Given the description of an element on the screen output the (x, y) to click on. 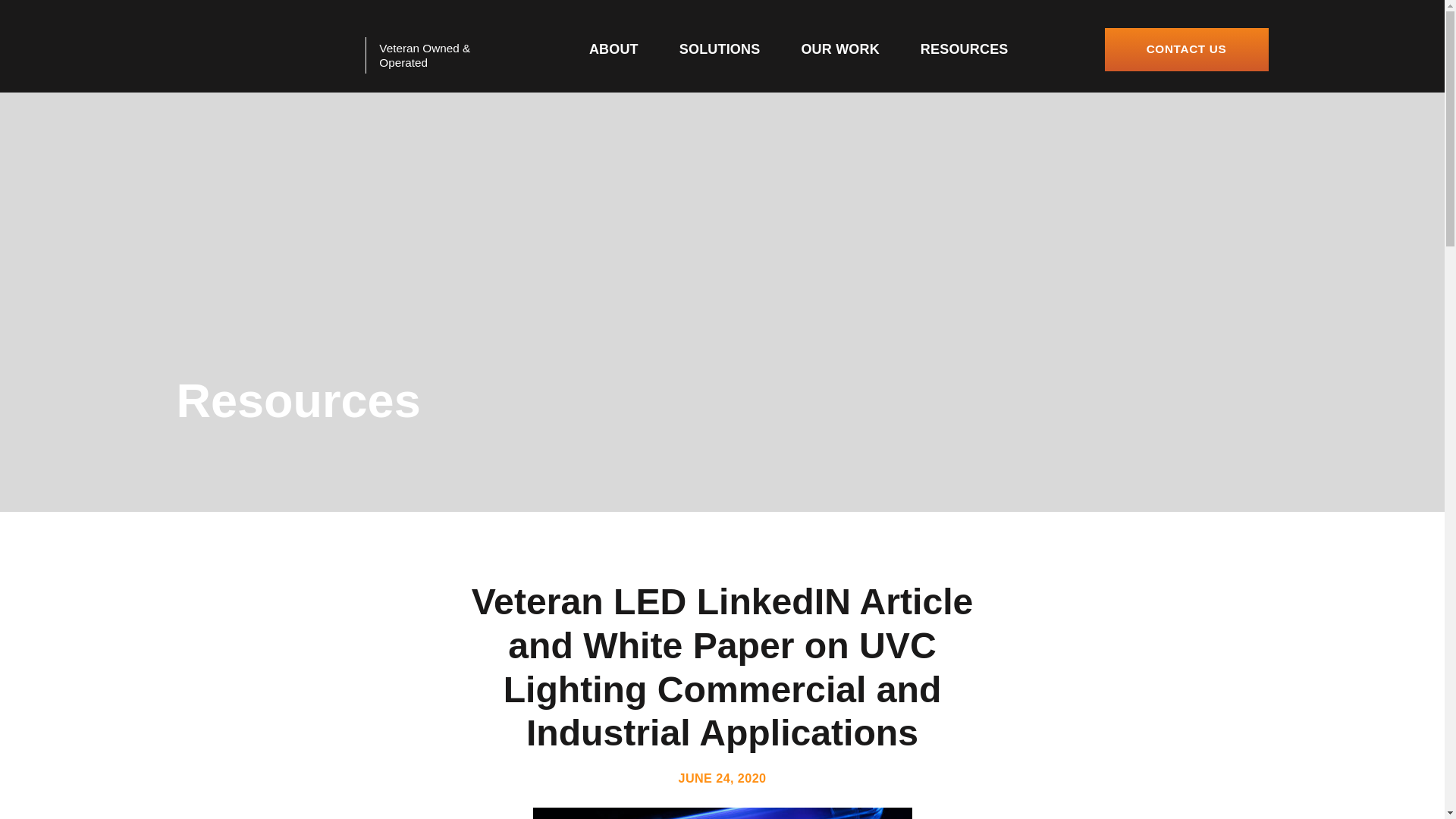
CONTACT US (1185, 49)
RESOURCES (964, 49)
Bowerbird Energy (264, 50)
SOLUTIONS (719, 49)
OUR WORK (839, 49)
Bowerbird Energy (264, 50)
ABOUT (614, 49)
